Given the description of an element on the screen output the (x, y) to click on. 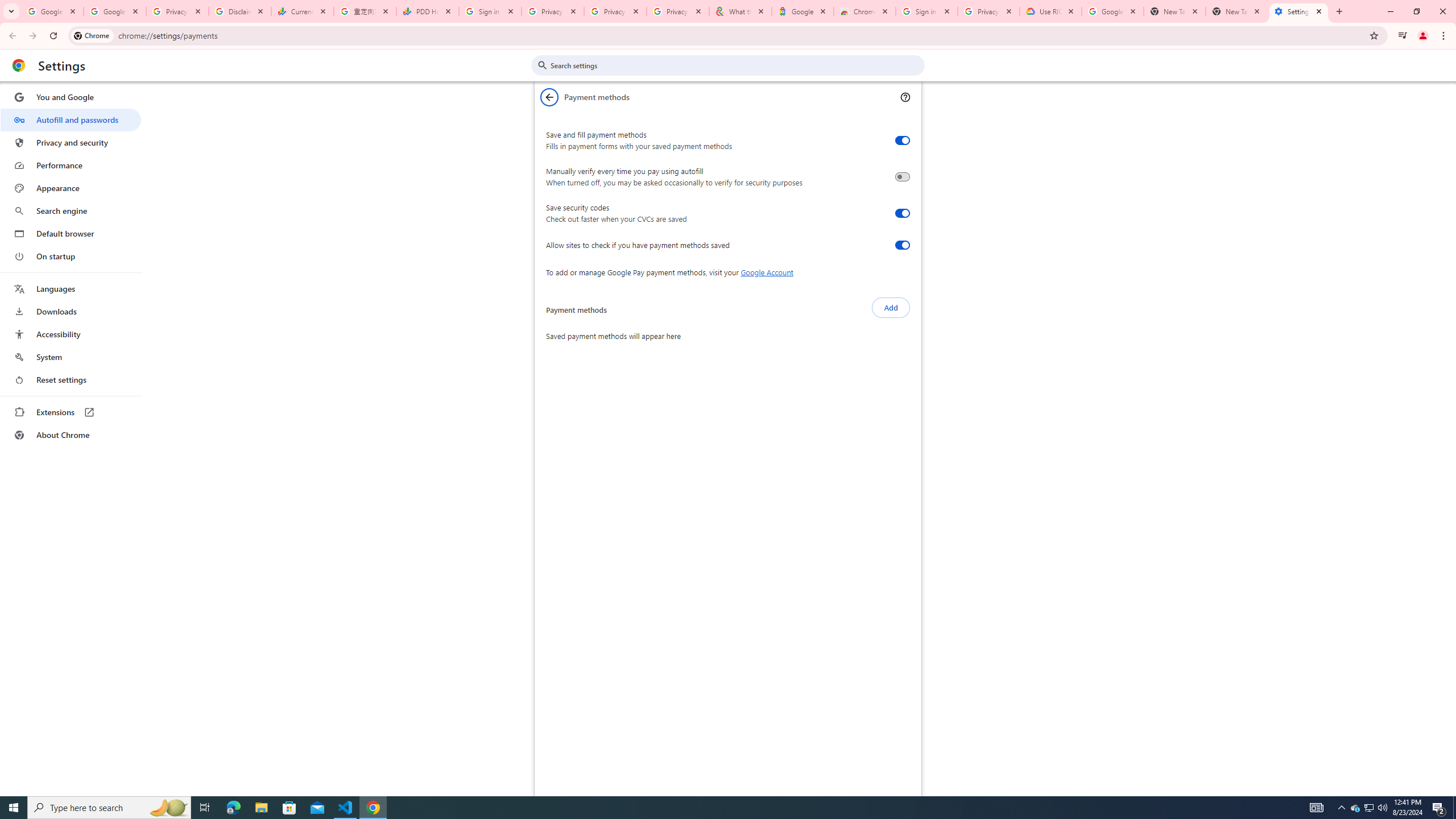
Google (802, 11)
Performance (70, 164)
